Given the description of an element on the screen output the (x, y) to click on. 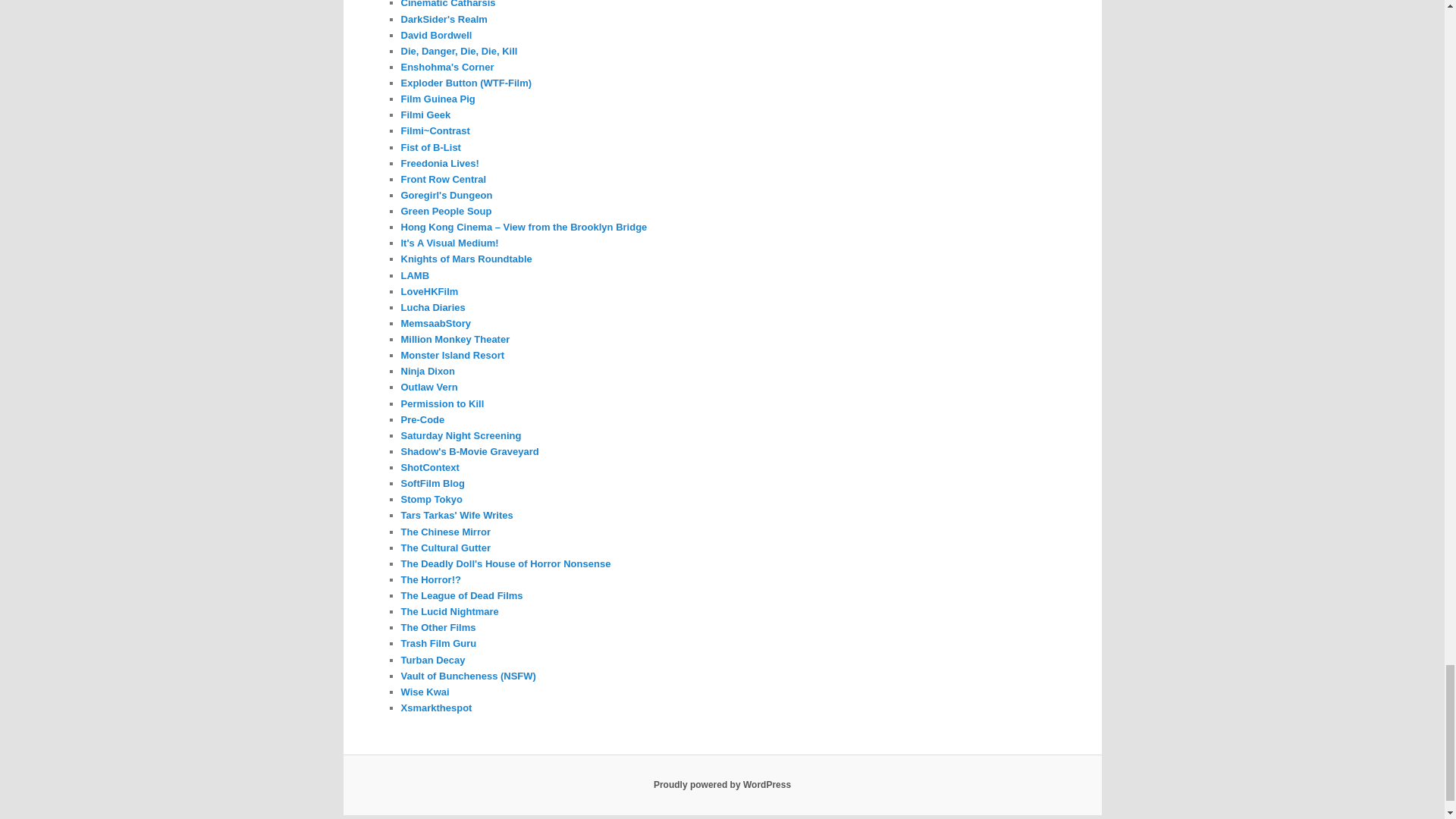
Semantic Personal Publishing Platform (721, 784)
